Given the description of an element on the screen output the (x, y) to click on. 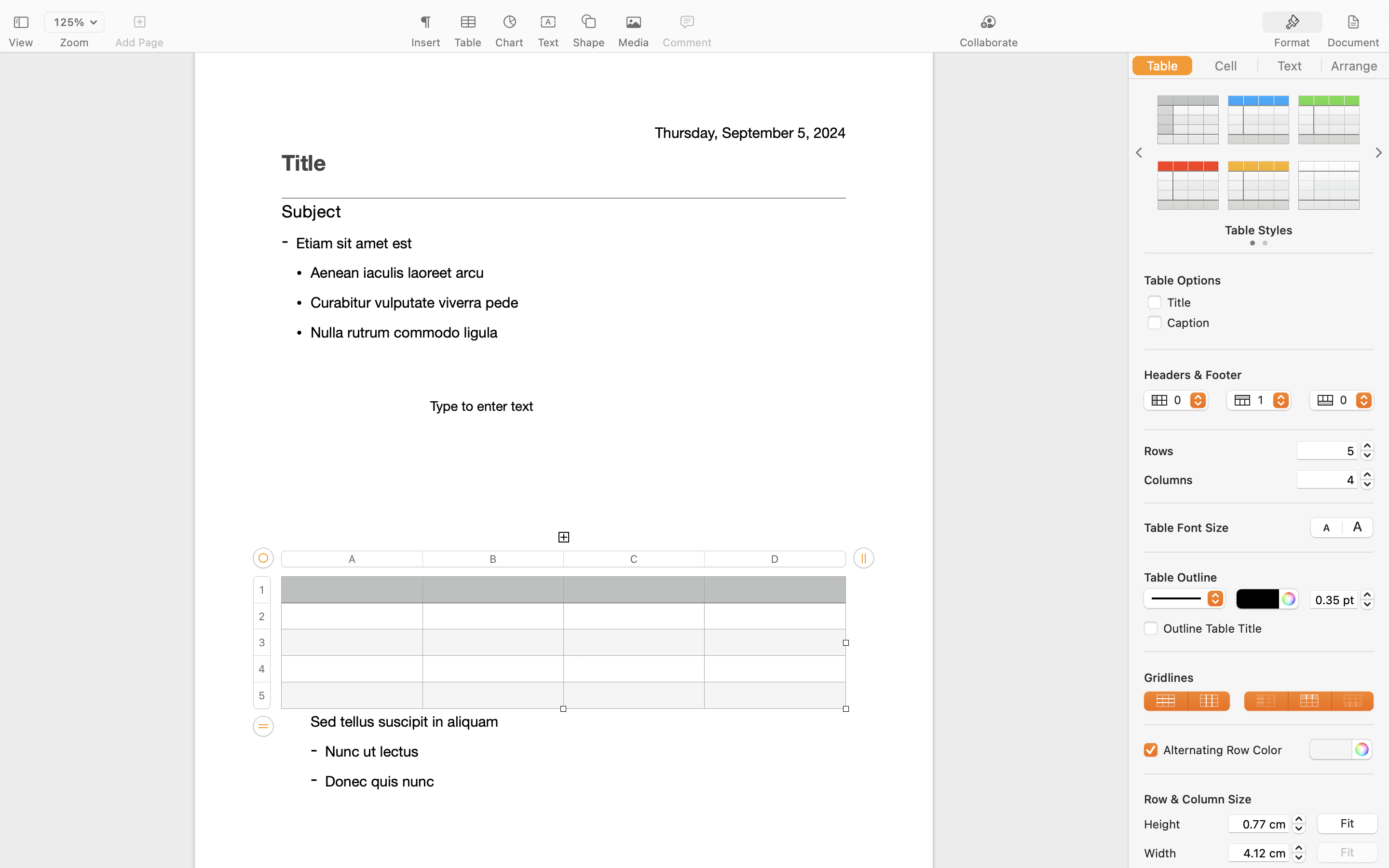
<AXUIElement 0x1774f1cf0> {pid=1482} Element type: AXRadioGroup (1258, 65)
Format Element type: AXStaticText (1291, 42)
View Element type: AXStaticText (20, 42)
Insert Element type: AXStaticText (425, 42)
4.12 cm Element type: AXTextField (1258, 852)
